Given the description of an element on the screen output the (x, y) to click on. 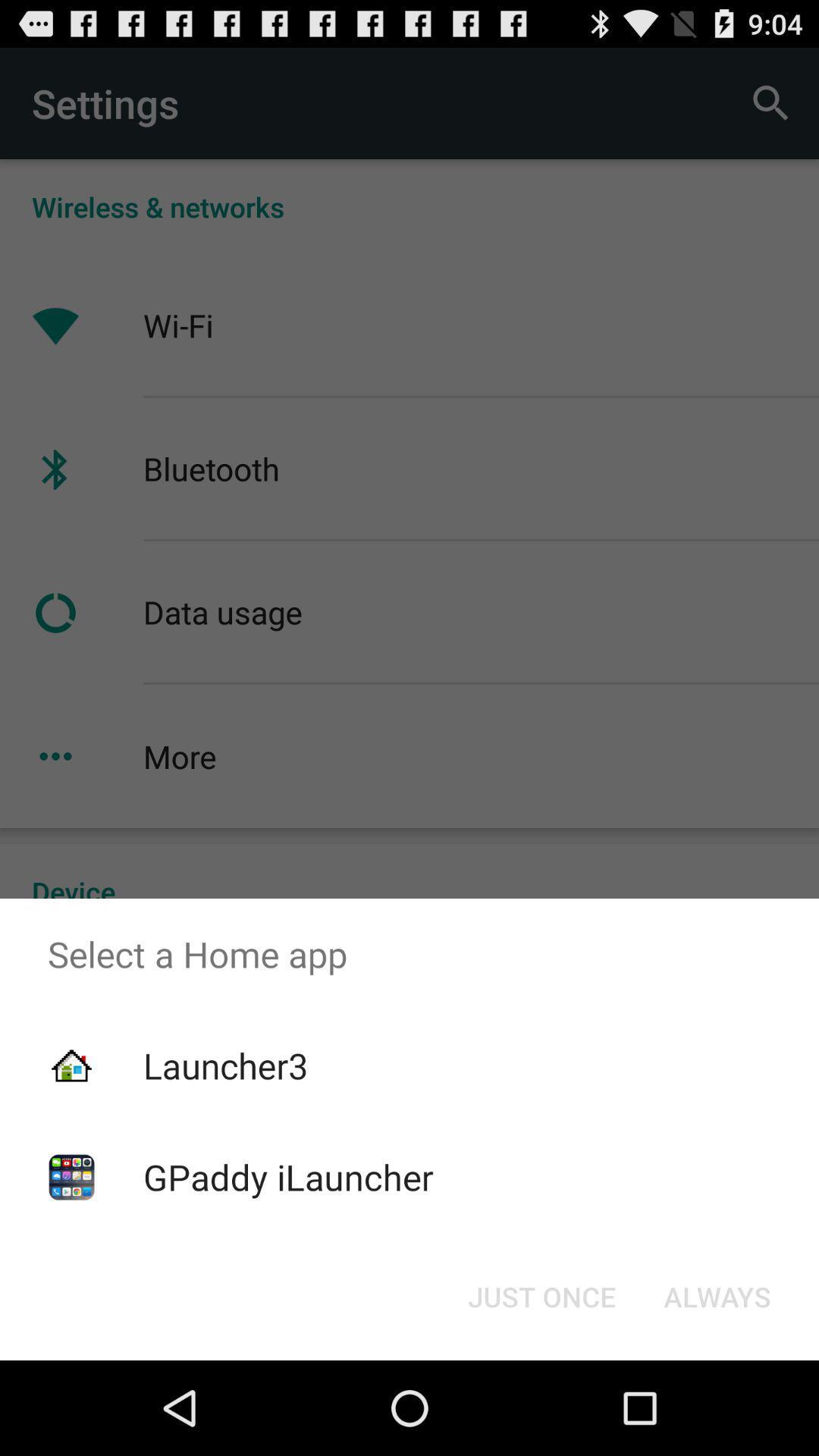
launch app below select a home (541, 1296)
